Given the description of an element on the screen output the (x, y) to click on. 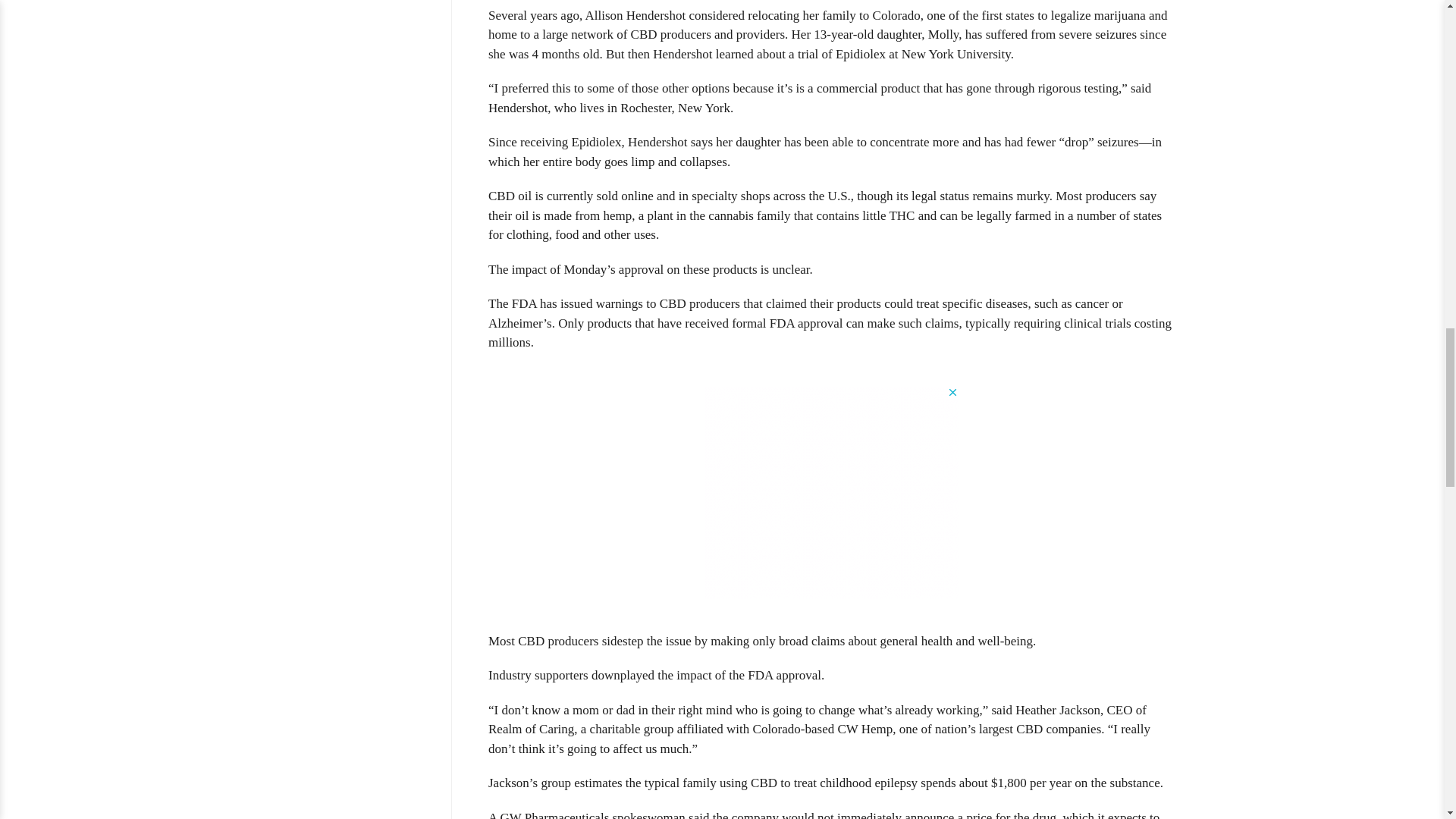
3rd party ad content (831, 491)
